Given the description of an element on the screen output the (x, y) to click on. 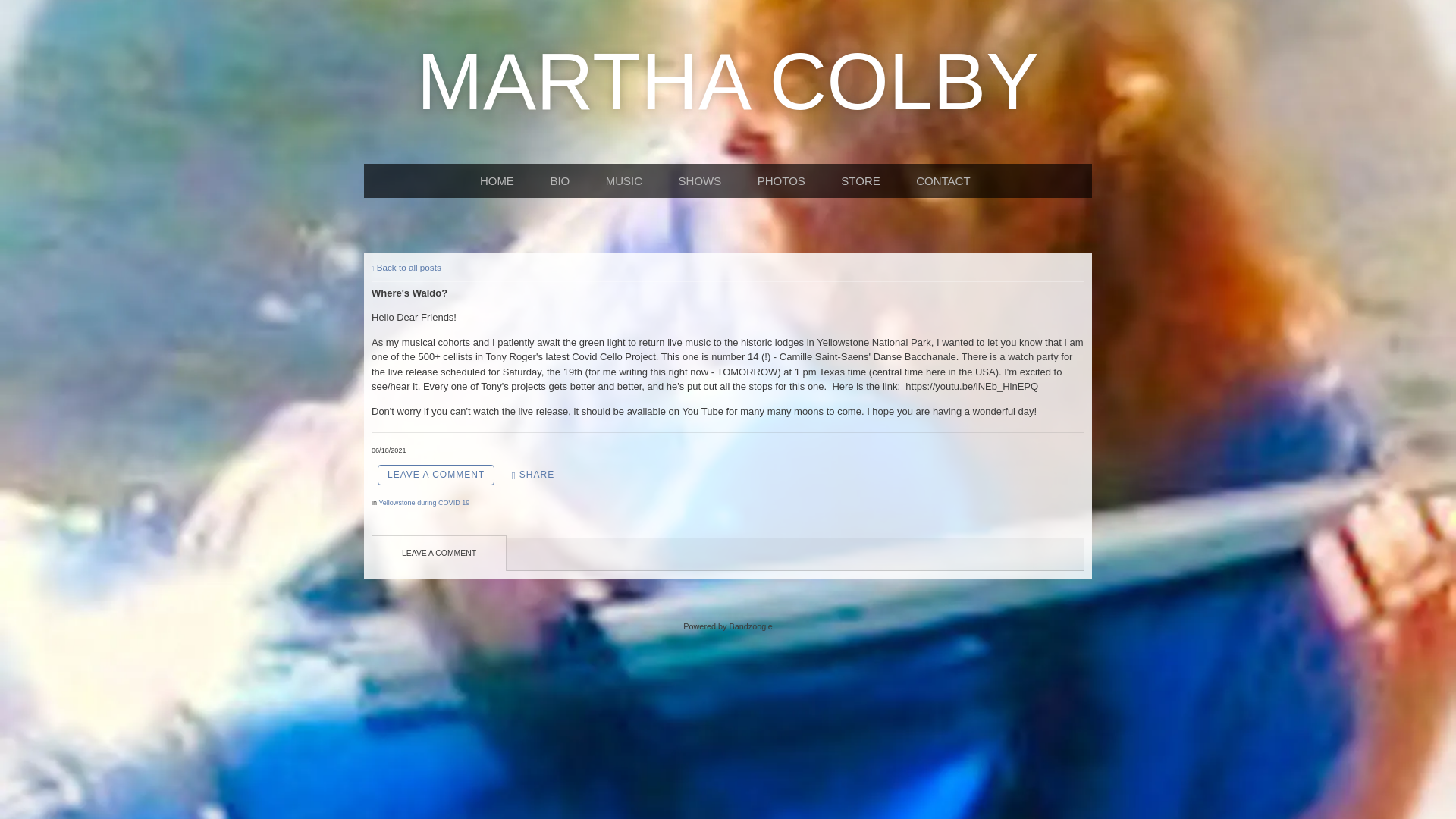
SHARE (533, 475)
HOME (499, 180)
June 18, 2021 09:48 (388, 450)
MARTHA COLBY (727, 102)
Powered by Bandzoogle (726, 625)
Share Where's Waldo? (533, 475)
PHOTOS (783, 180)
Leave a comment (436, 475)
MUSIC (626, 180)
LEAVE A COMMENT (436, 475)
Powered by Bandzoogle (726, 625)
SHOWS (702, 180)
Back to all posts (406, 266)
STORE (862, 180)
BIO (562, 180)
